Given the description of an element on the screen output the (x, y) to click on. 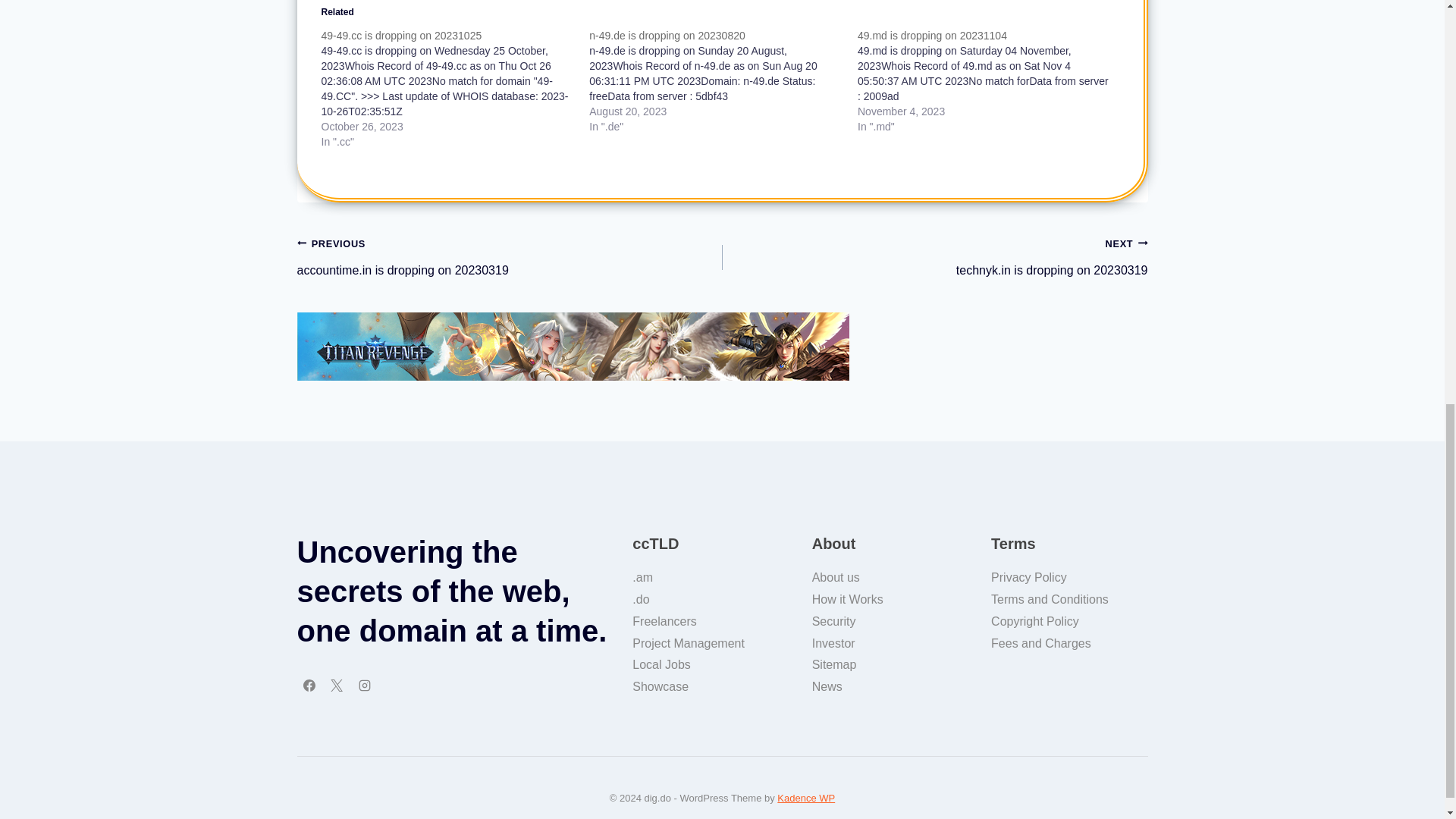
n-49.de is dropping on 20230820 (723, 80)
49-49.cc is dropping on 20231025 (455, 88)
n-49.de is dropping on 20230820 (667, 35)
49-49.cc is dropping on 20231025 (401, 35)
49.md is dropping on 20231104 (991, 80)
49.md is dropping on 20231104 (932, 35)
